Given the description of an element on the screen output the (x, y) to click on. 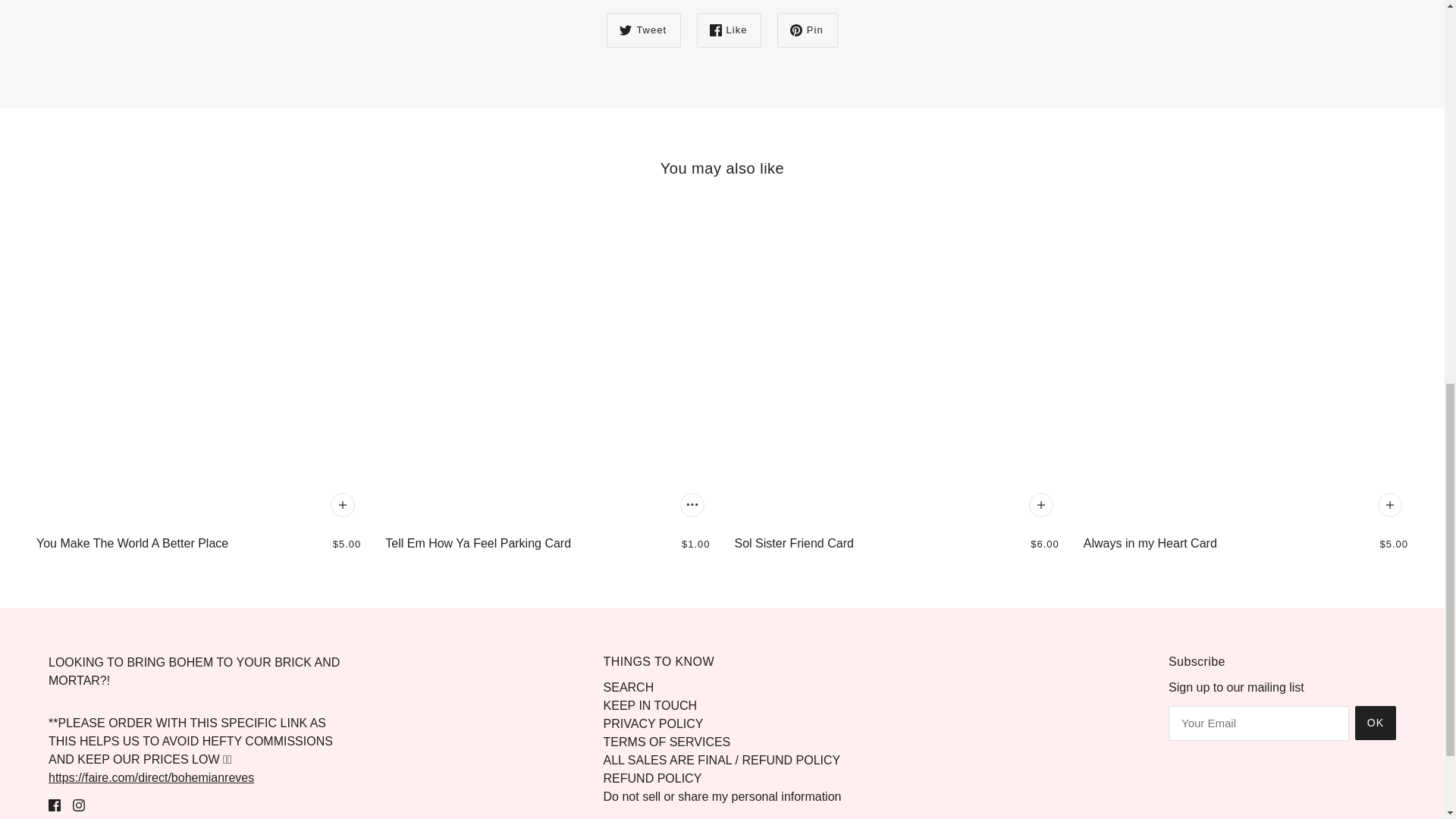
REFUND POLICY (652, 778)
Pin (807, 29)
SEARCH (628, 686)
KEEP IN TOUCH (650, 705)
Do not sell or share my personal information (722, 796)
Like (729, 29)
TERMS OF SERVICES (667, 741)
Tweet (644, 29)
PRIVACY POLICY  (653, 723)
